Given the description of an element on the screen output the (x, y) to click on. 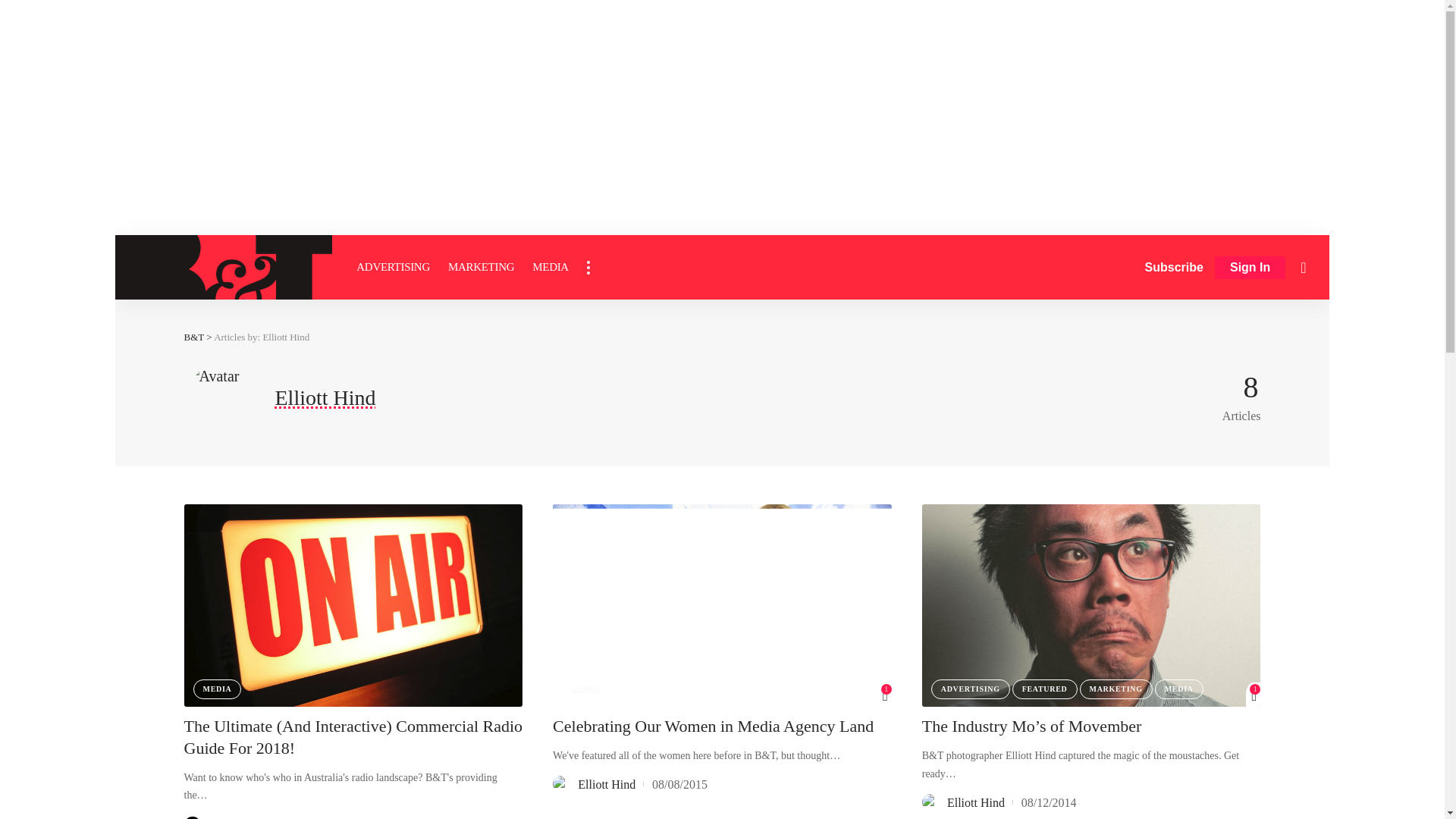
Subscribe (1174, 267)
ADVERTISING (393, 267)
MARKETING (480, 267)
Celebrating Our Women in Media Agency Land (722, 604)
Sign In (1249, 267)
